Given the description of an element on the screen output the (x, y) to click on. 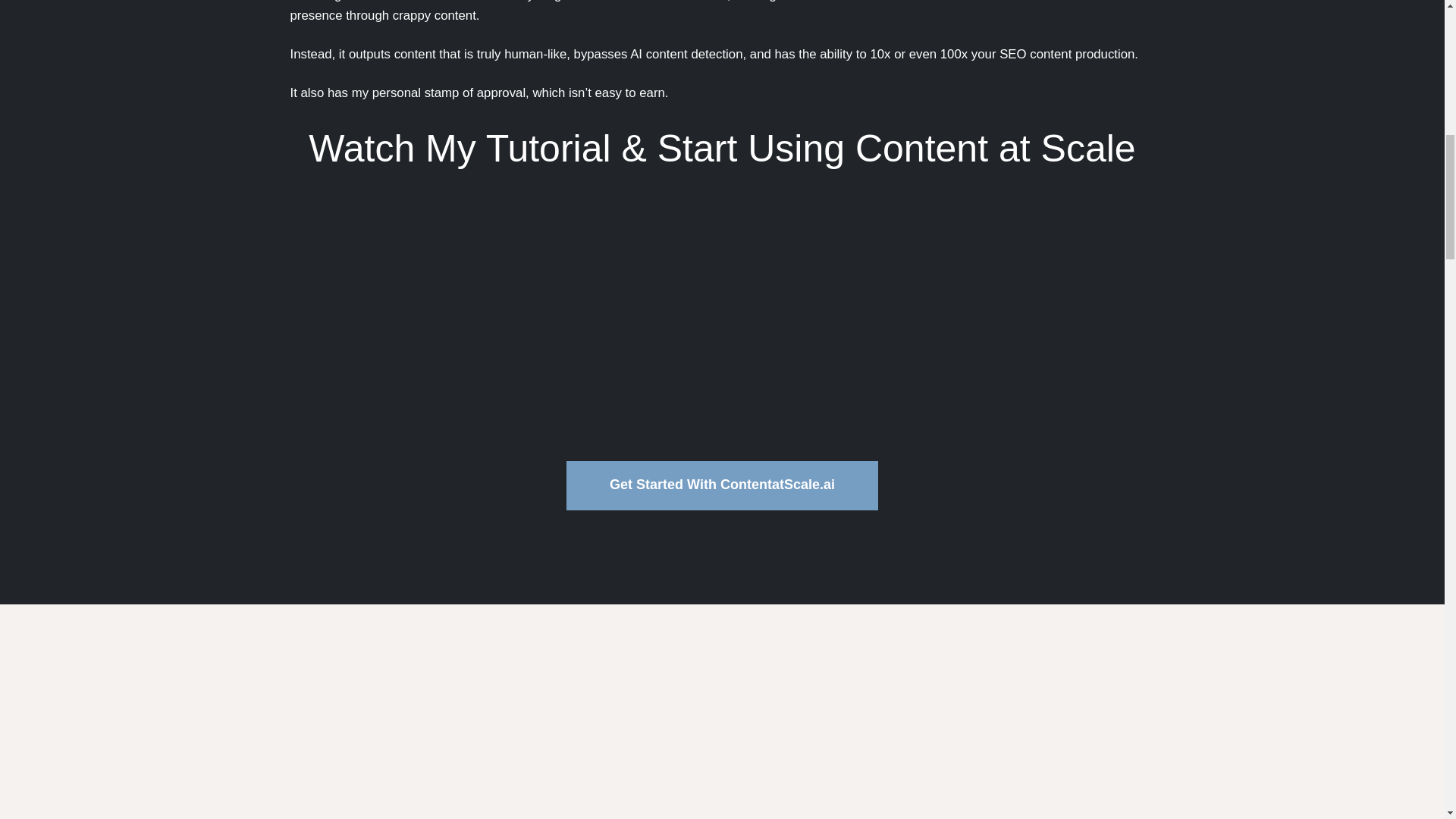
YouTube video player (721, 317)
Get Started With ContentatScale.ai (721, 485)
